Given the description of an element on the screen output the (x, y) to click on. 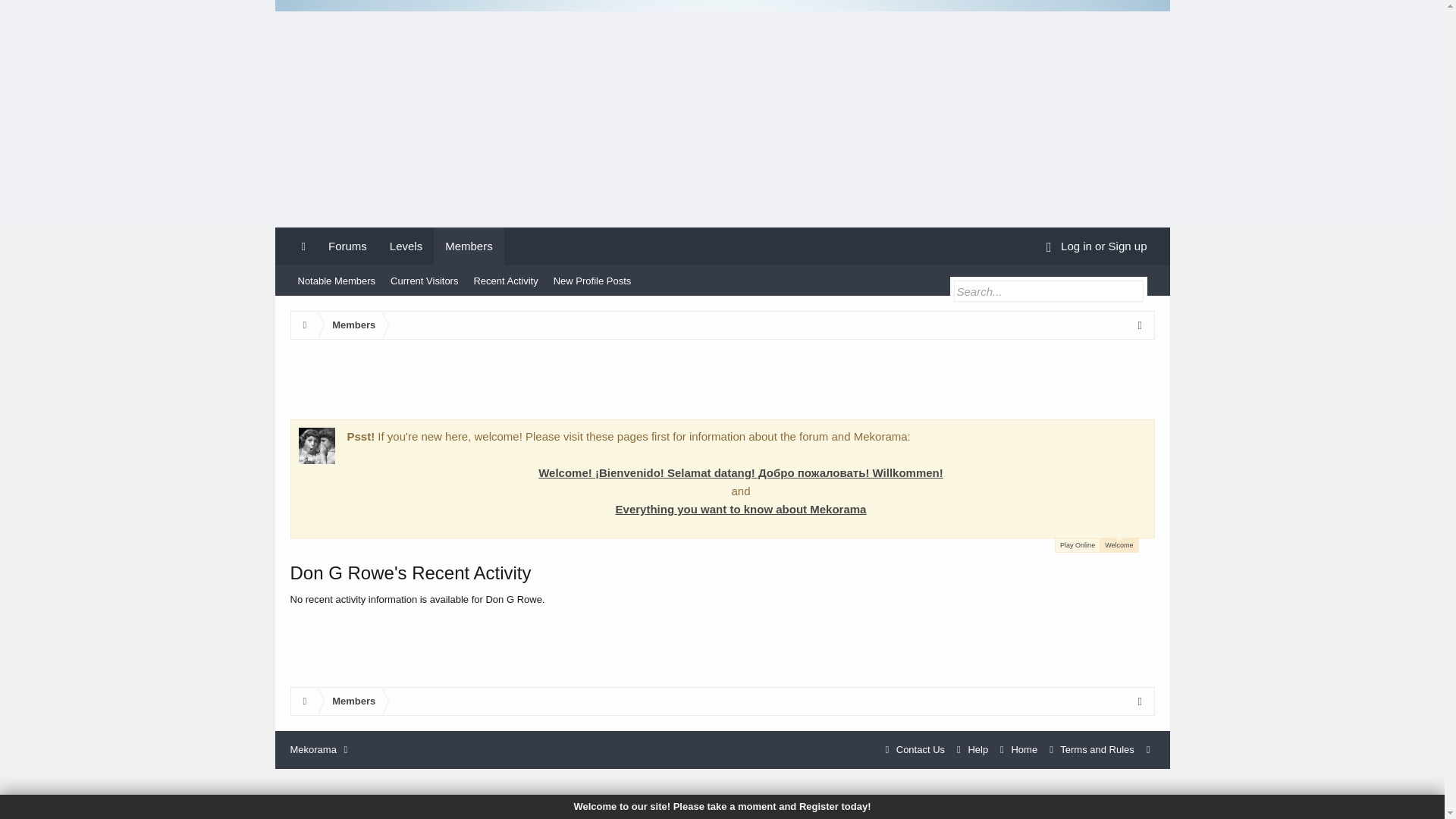
Notable Members (335, 280)
Levels (405, 246)
Current Visitors (423, 280)
Dismiss Notice (1144, 434)
Everything you want to know about Mekorama (740, 508)
New Profile Posts (592, 280)
Play Online (1077, 544)
Welcome (1118, 544)
Enter your search and hit enter (1047, 291)
Members (350, 701)
